Given the description of an element on the screen output the (x, y) to click on. 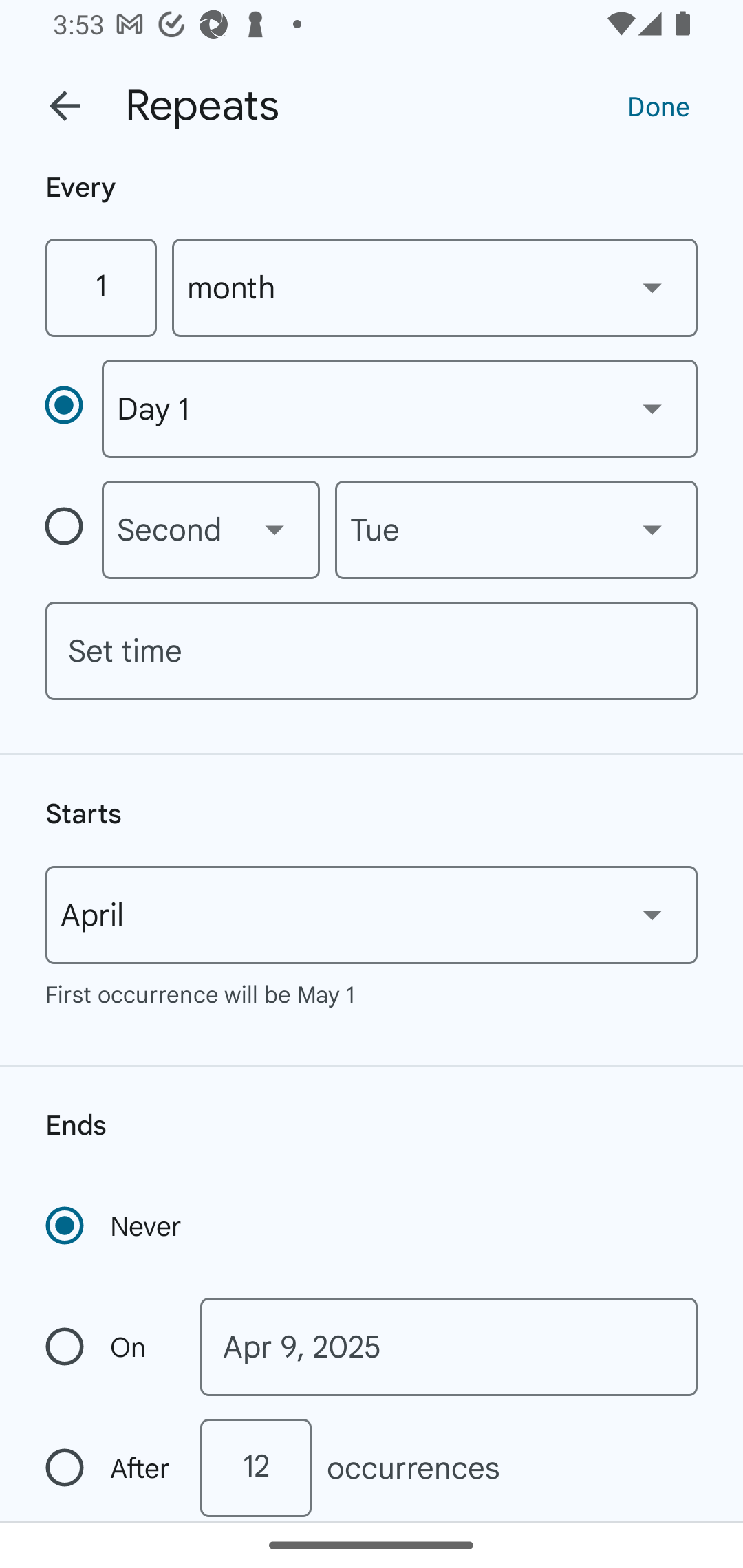
Back (64, 105)
Done (658, 105)
1 (100, 287)
month (434, 287)
Show dropdown menu (652, 286)
Day 1 (399, 408)
Show dropdown menu (652, 408)
Repeat monthly on a specific day of the month (73, 408)
Second (210, 529)
Tue (516, 529)
Show dropdown menu (274, 529)
Show dropdown menu (652, 529)
Repeat monthly on a specific weekday (73, 529)
Set time (371, 650)
April (371, 914)
Show dropdown menu (652, 913)
Never Recurrence never ends (115, 1225)
Apr 9, 2025 (448, 1346)
On Recurrence ends on a specific date (109, 1346)
12 (255, 1468)
